Given the description of an element on the screen output the (x, y) to click on. 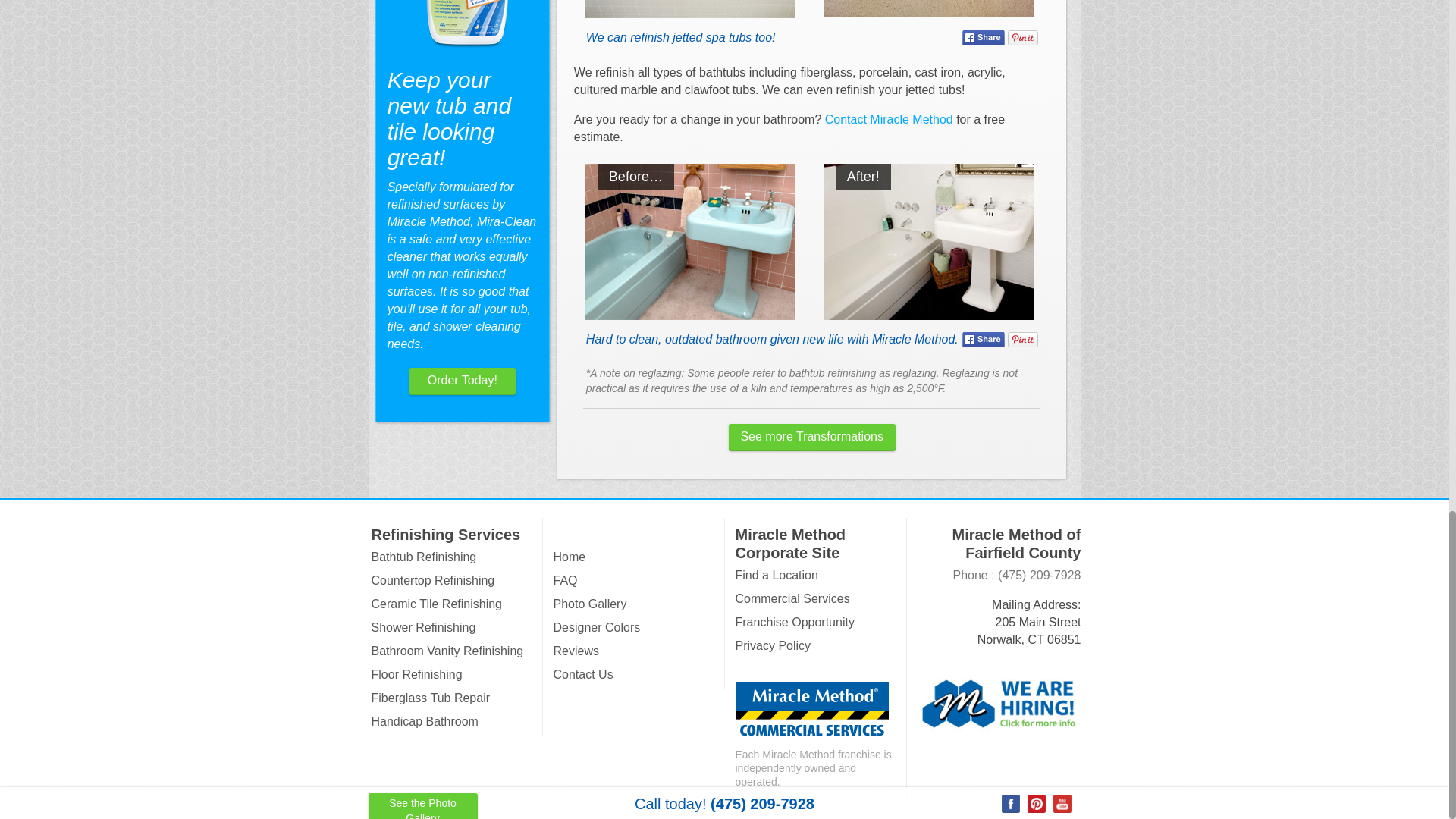
Contact Miracle Method (889, 119)
Handicap Bathroom (425, 721)
Fiberglass Tub Repair (430, 697)
Shower Refinishing (423, 626)
Bathroom Vanity Refinishing (447, 650)
Floor Refinishing (417, 674)
See more Transformations (812, 437)
Bathtub Refinishing (424, 556)
Ceramic Tile Refinishing (436, 603)
Order Today! (462, 380)
Countertop Refinishing (433, 580)
